Given the description of an element on the screen output the (x, y) to click on. 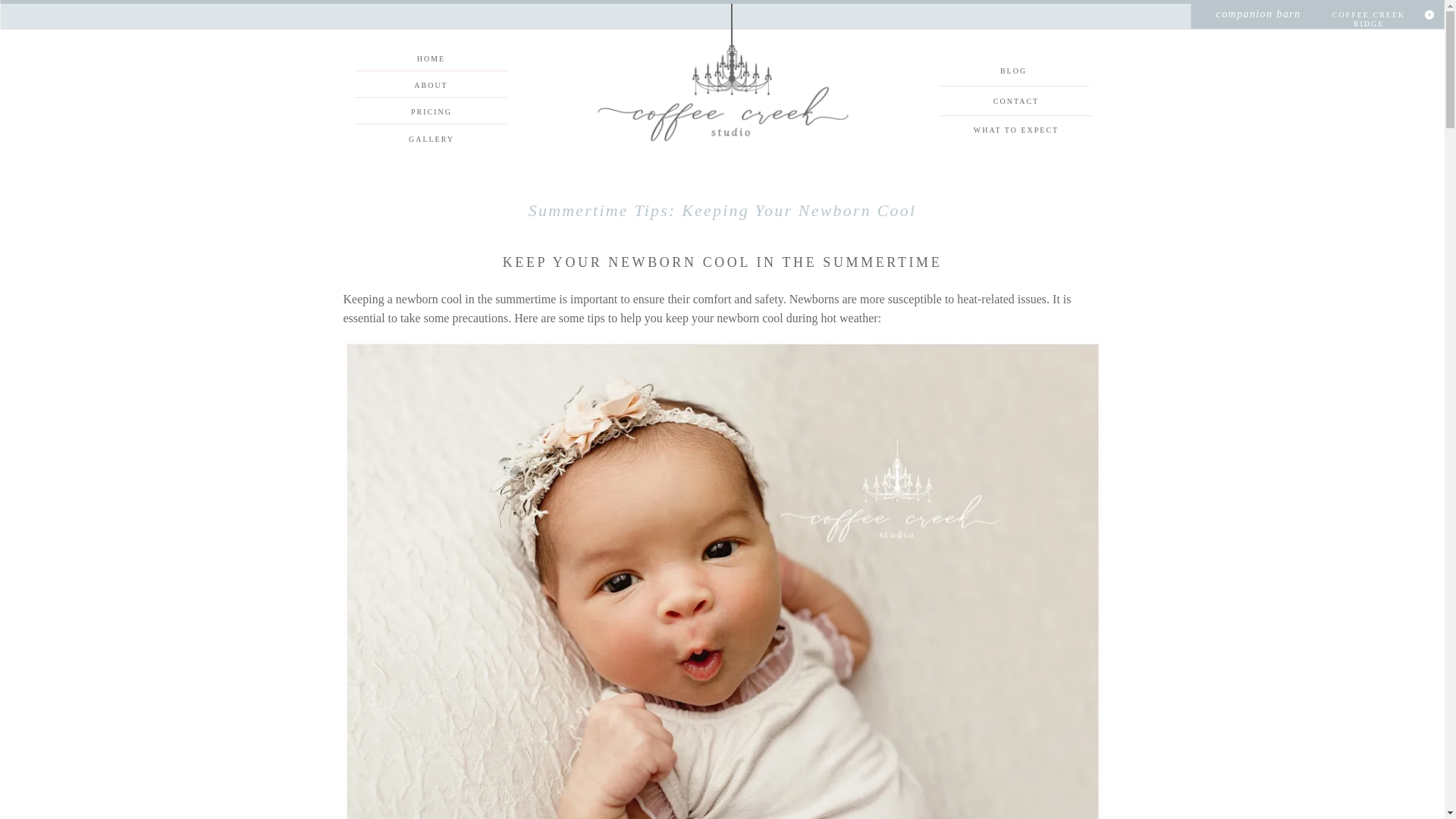
COFFEE CREEK RIDGE (1368, 15)
ABOUT (430, 85)
WHAT TO EXPECT (1016, 130)
GALLERY (431, 139)
PRICING (431, 111)
BLOG (1012, 70)
CONTACT (1016, 101)
HOME (430, 58)
